Given the description of an element on the screen output the (x, y) to click on. 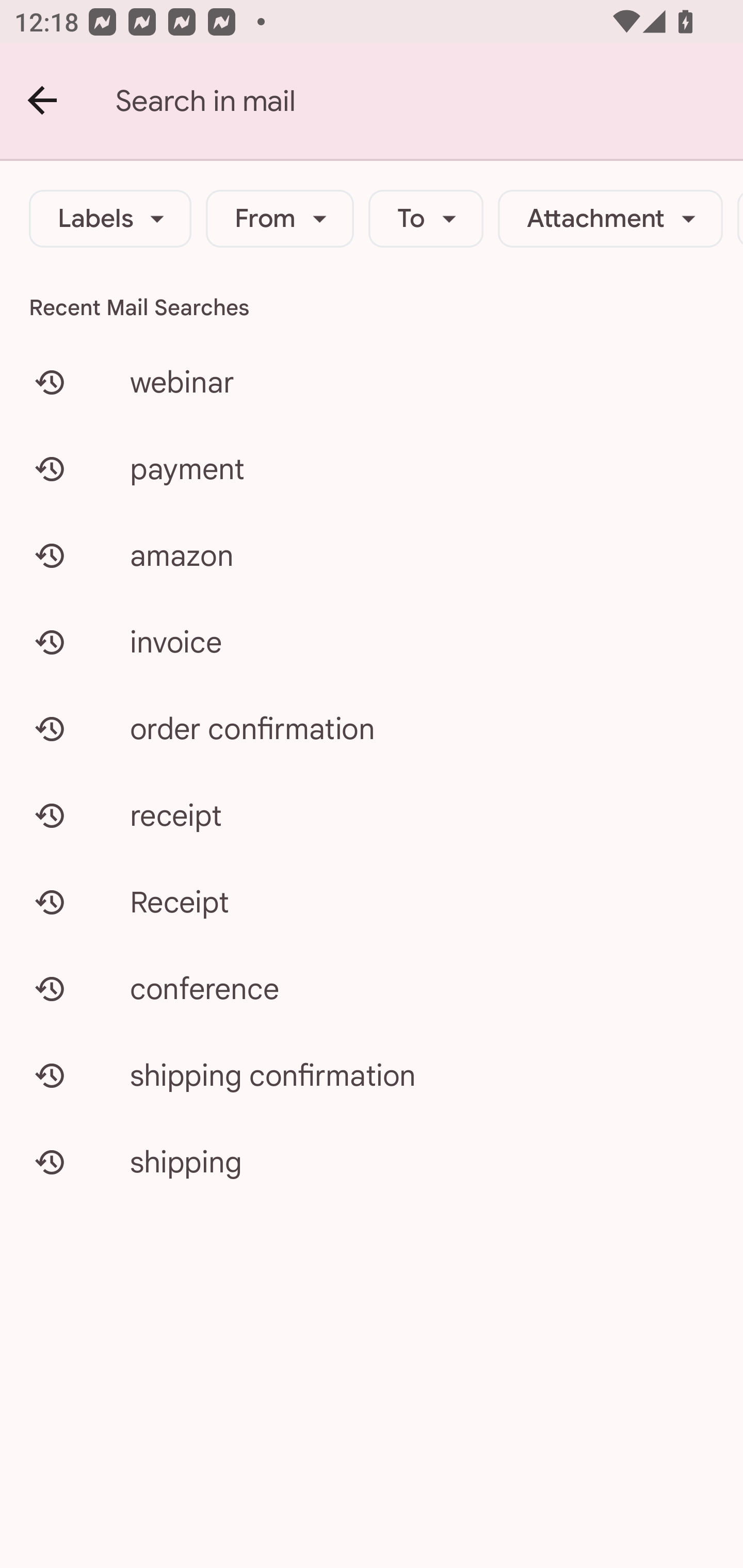
Back (43, 101)
Search in mail (429, 101)
Labels (109, 218)
From (279, 218)
To (425, 218)
Attachment (609, 218)
Recent Mail Searches (371, 306)
webinar Suggestion: webinar (371, 381)
payment Suggestion: payment (371, 468)
amazon Suggestion: amazon (371, 555)
invoice Suggestion: invoice (371, 641)
order confirmation Suggestion: order confirmation (371, 728)
receipt Suggestion: receipt (371, 815)
conference Suggestion: conference (371, 988)
shipping Suggestion: shipping (371, 1161)
